Given the description of an element on the screen output the (x, y) to click on. 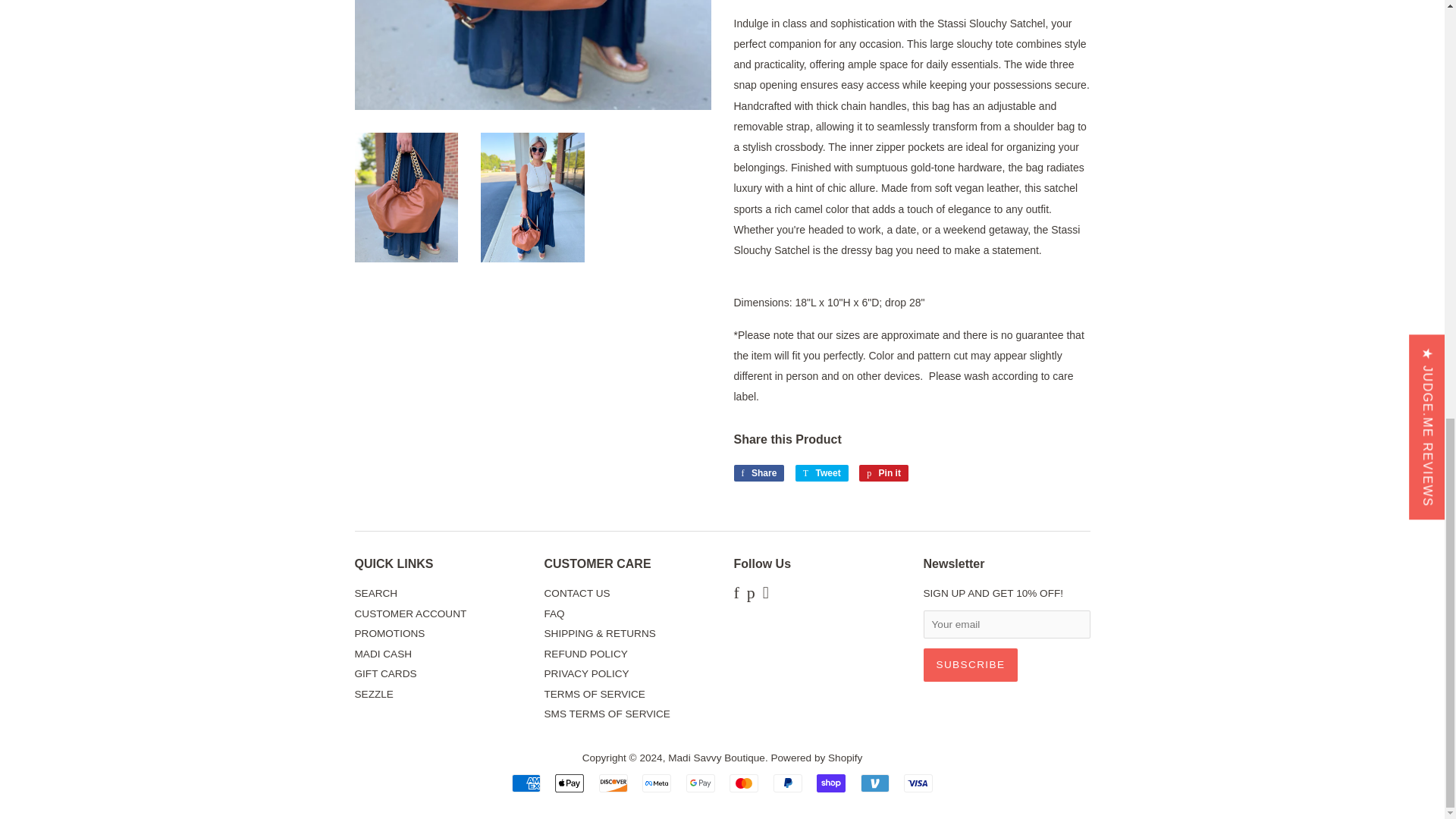
Pin on Pinterest (883, 473)
American Express (526, 782)
Subscribe (970, 664)
Shop Pay (830, 782)
Visa (918, 782)
Meta Pay (656, 782)
Apple Pay (568, 782)
Mastercard (743, 782)
Tweet on Twitter (821, 473)
Share on Facebook (758, 473)
PayPal (787, 782)
Discover (612, 782)
Google Pay (699, 782)
Venmo (874, 782)
